Given the description of an element on the screen output the (x, y) to click on. 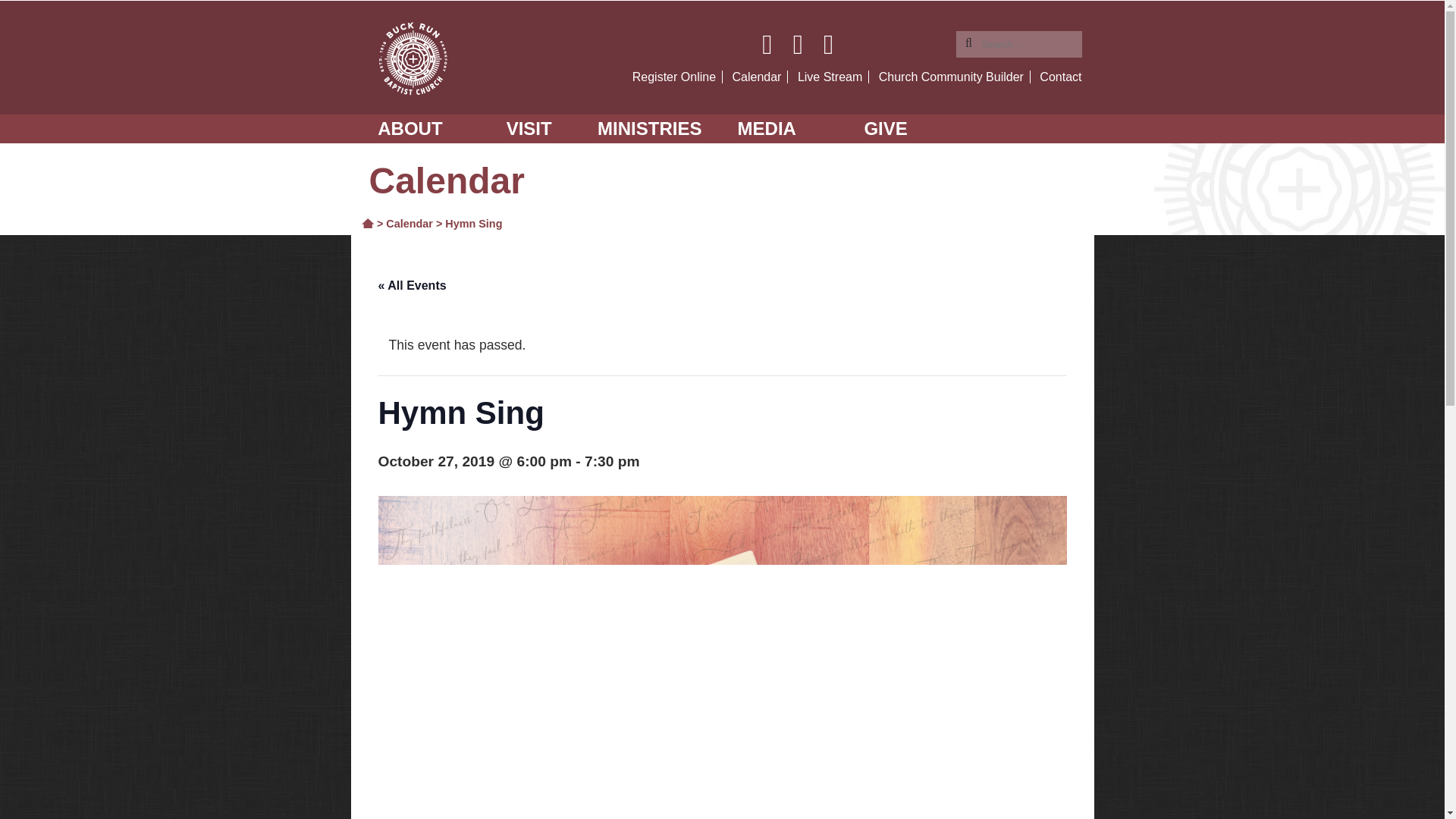
Go to Buck Run Baptist Church. (367, 223)
Contact (1060, 76)
Live Stream (829, 76)
GIVE (885, 128)
Search (21, 7)
MEDIA (767, 128)
Calendar (756, 76)
Register Online (673, 76)
MINISTRIES (647, 128)
Go to Calendar. (408, 223)
ABOUT (409, 128)
VISIT (528, 128)
Church Community Builder (951, 76)
